Given the description of an element on the screen output the (x, y) to click on. 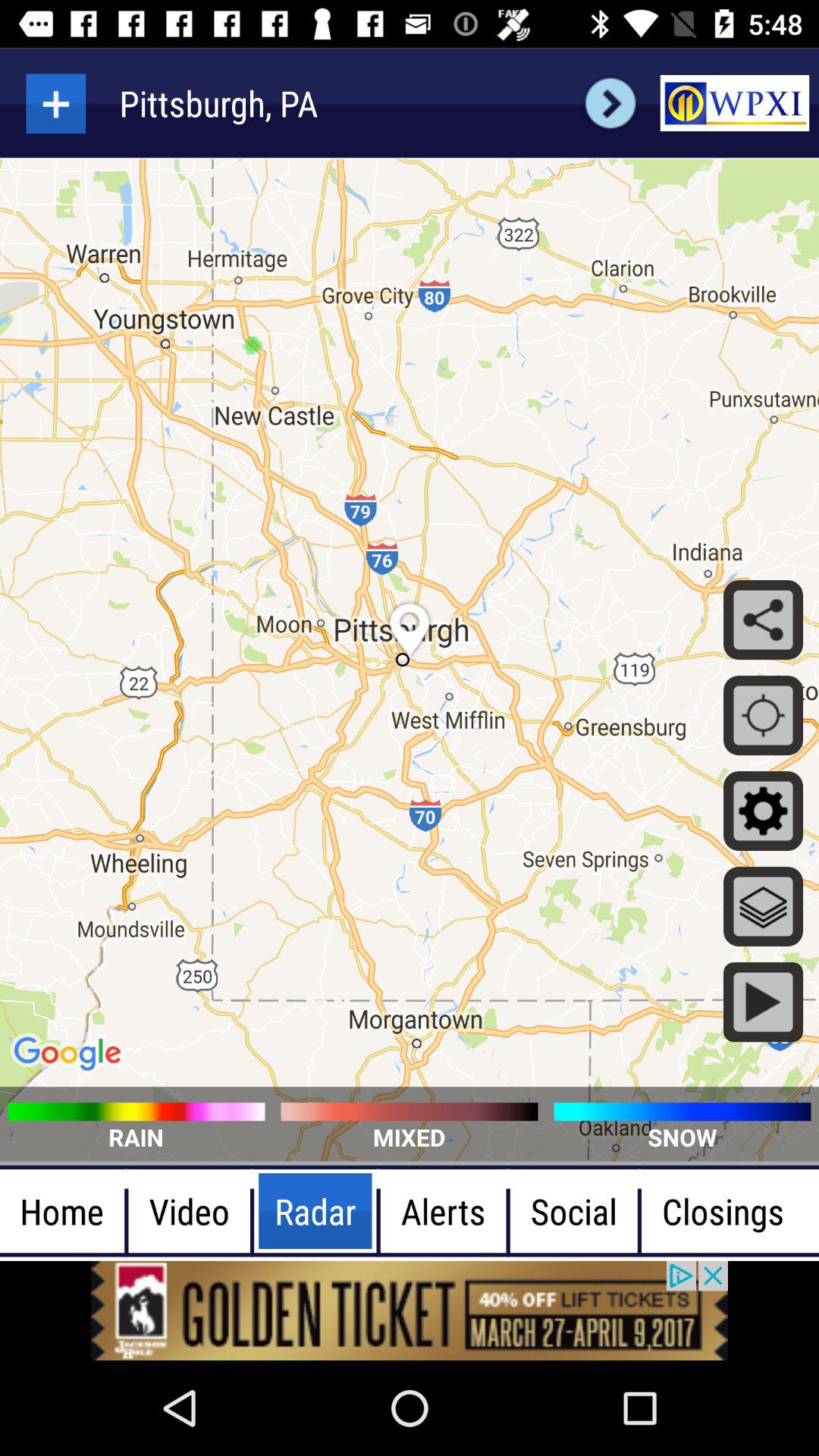
next button (610, 103)
